Given the description of an element on the screen output the (x, y) to click on. 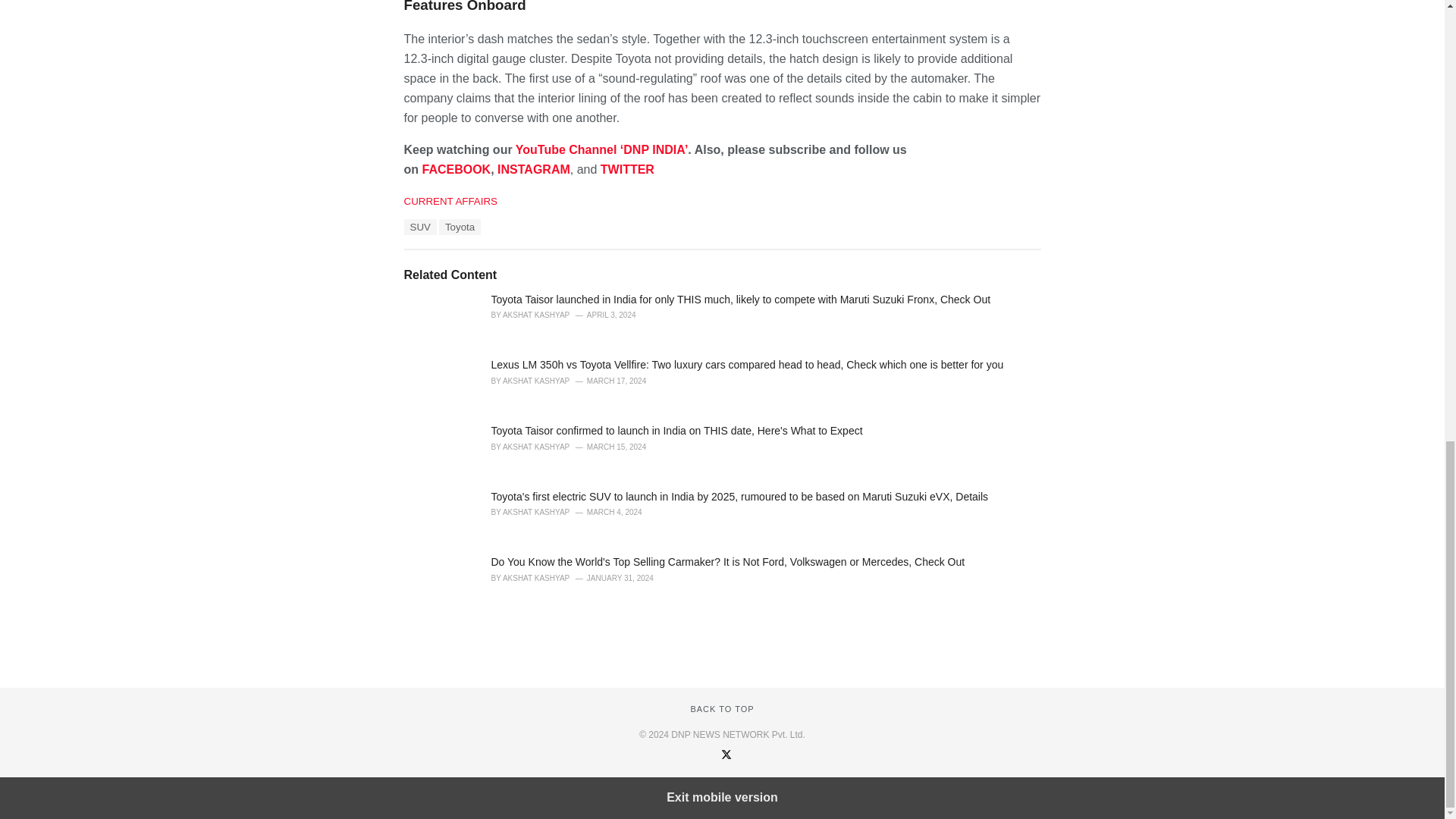
Toyota (459, 227)
FACEBOOK (456, 169)
TWITTER (626, 169)
SUV (419, 227)
3rd party ad content (721, 639)
